Given the description of an element on the screen output the (x, y) to click on. 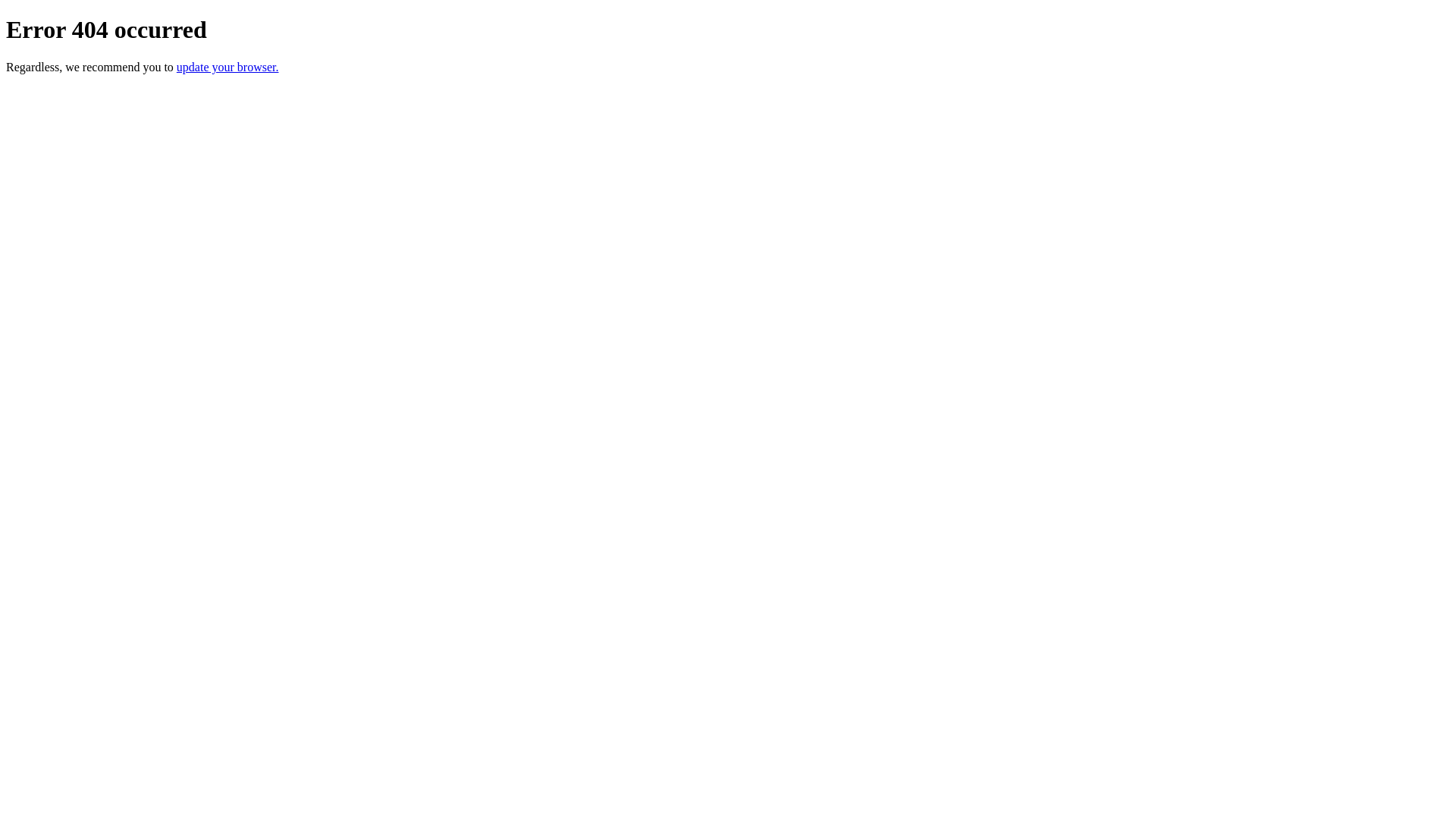
update your browser. Element type: text (227, 66)
